Given the description of an element on the screen output the (x, y) to click on. 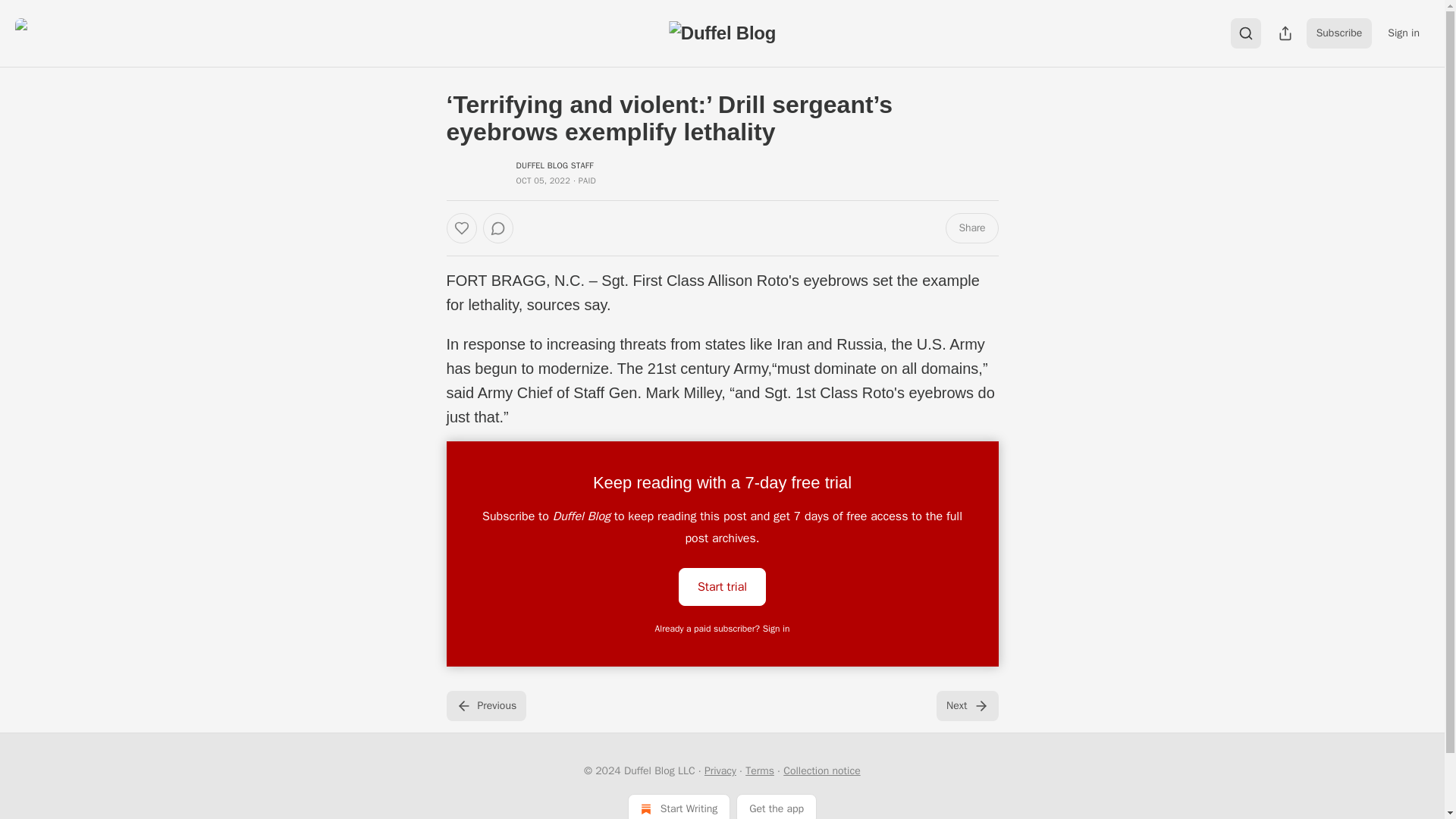
Get the app (776, 806)
DUFFEL BLOG STAFF (553, 164)
Collection notice (821, 770)
Previous (485, 706)
Start trial (721, 587)
Start Writing (678, 806)
Start trial (721, 585)
Privacy (720, 770)
Subscribe (1339, 33)
Share (970, 227)
Next (966, 706)
Already a paid subscriber? Sign in (722, 628)
Sign in (1403, 33)
Terms (759, 770)
